Given the description of an element on the screen output the (x, y) to click on. 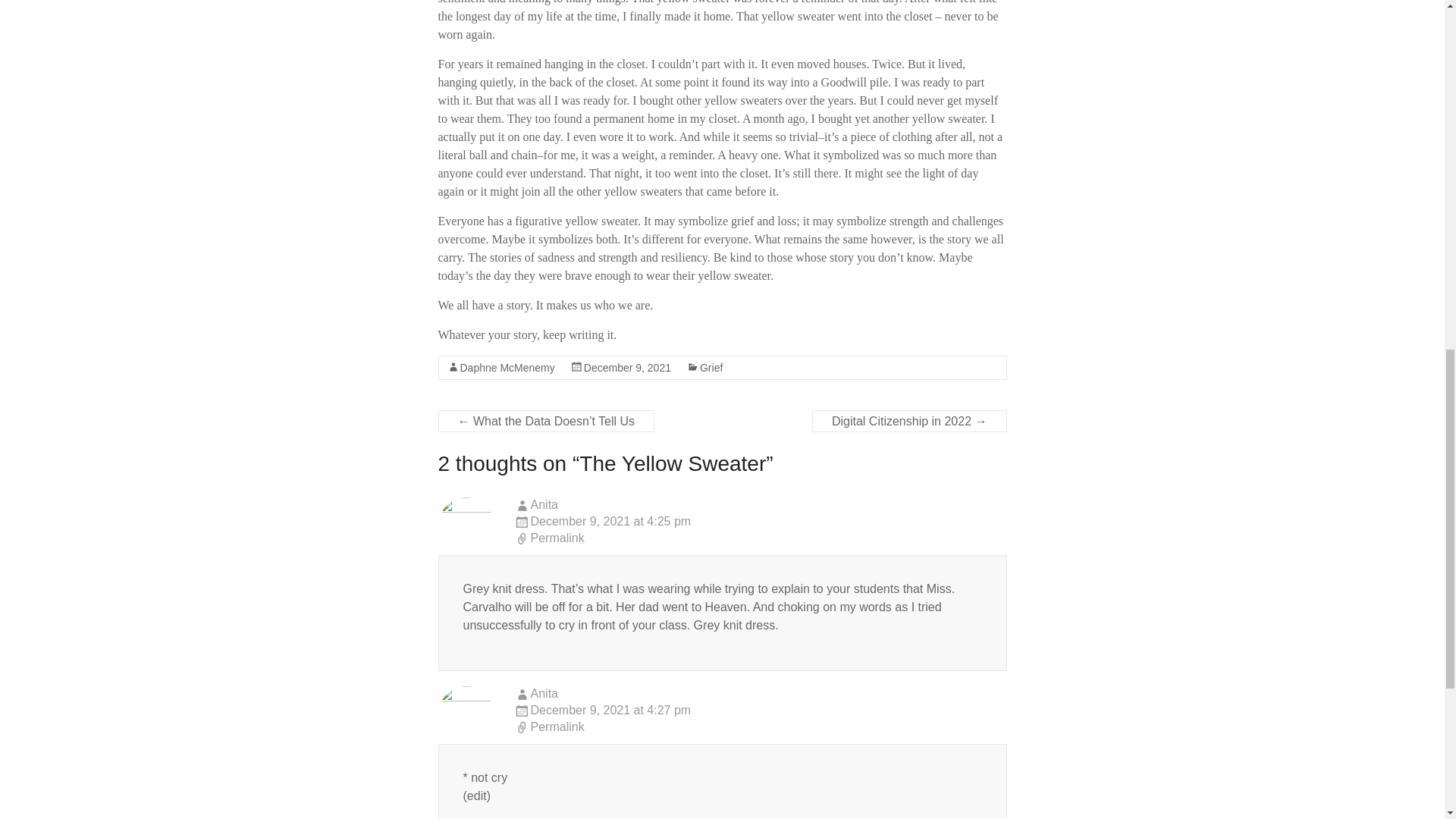
Grief (711, 367)
Permalink (760, 538)
1:44 pm (627, 367)
Permalink (760, 727)
December 9, 2021 (627, 367)
Daphne McMenemy (507, 367)
